Given the description of an element on the screen output the (x, y) to click on. 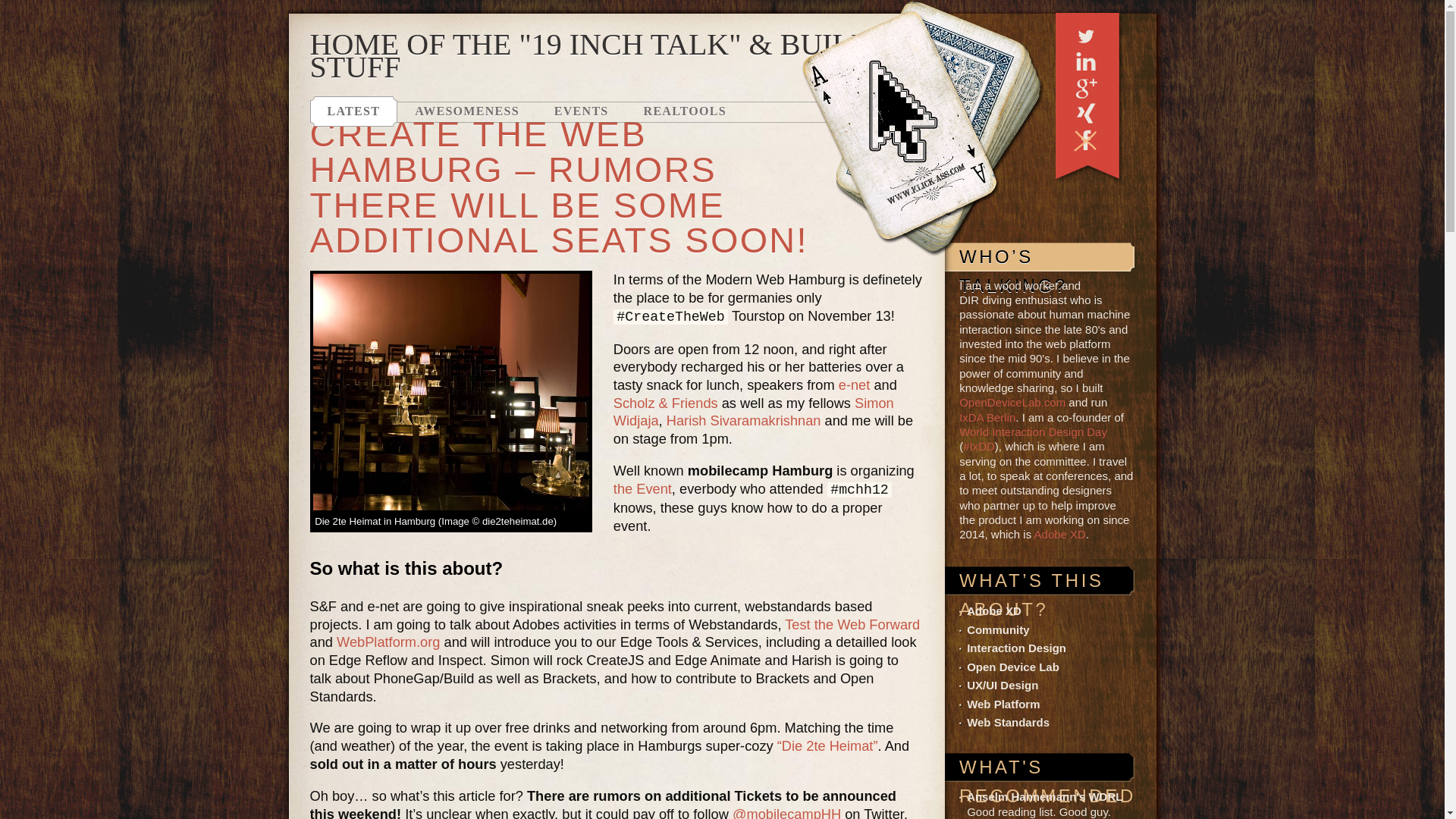
Twitter (1085, 34)
Home (923, 129)
Harish Sivaramakrishnan (743, 420)
EVENTS (581, 111)
Test the Web Forward (852, 624)
REALTOOLS (685, 111)
Home (923, 130)
Facebook (1085, 140)
the Event (641, 488)
Good reading list. Good guy. (1044, 796)
LinkedIn (1085, 60)
LATEST (352, 111)
AWESOMENESS (467, 111)
Simon Widjaja (752, 411)
Events (581, 111)
